Given the description of an element on the screen output the (x, y) to click on. 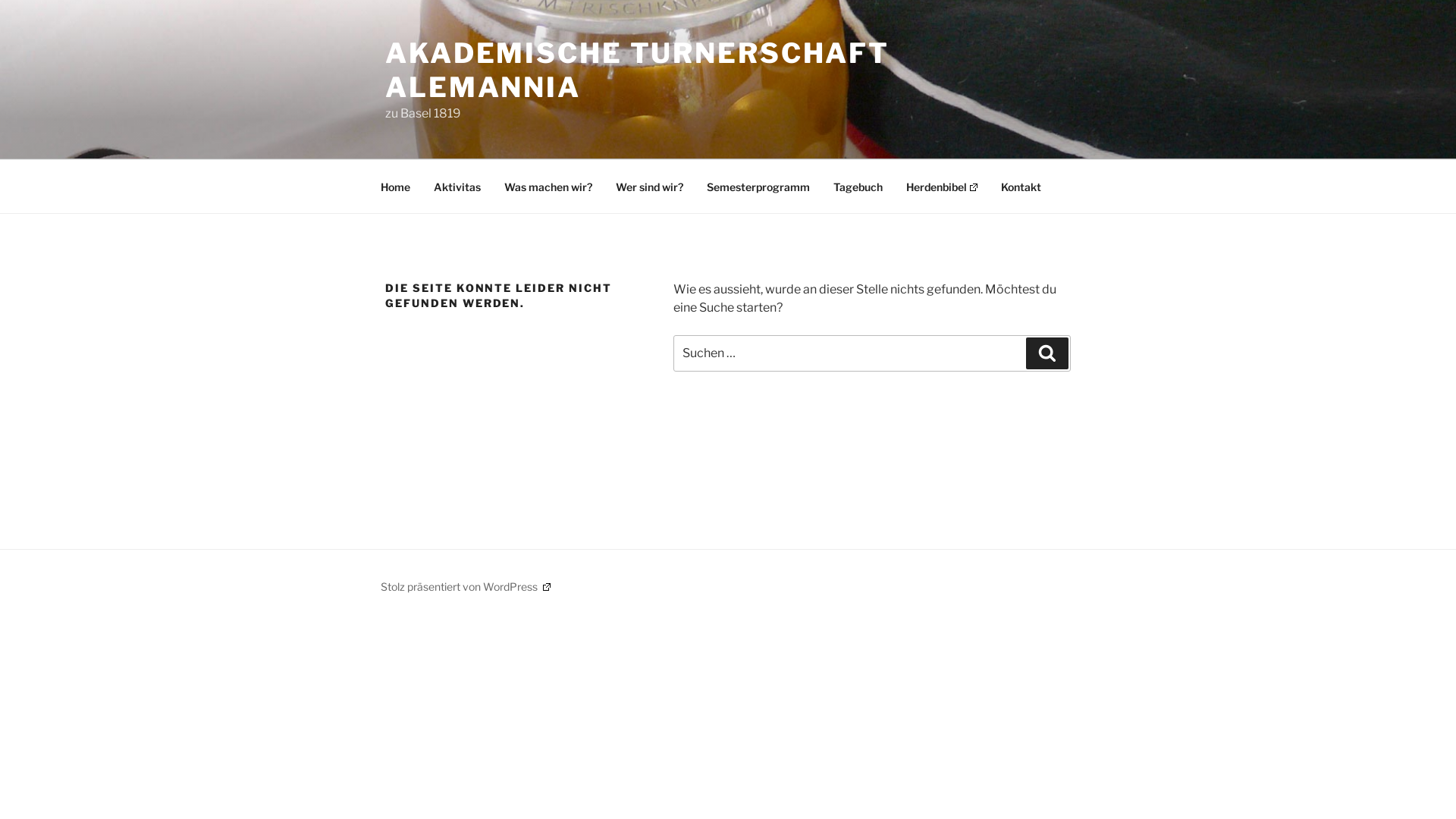
Home Element type: text (395, 186)
Herdenbibel Element type: text (941, 186)
Semesterprogramm Element type: text (758, 186)
Kontakt Element type: text (1020, 186)
Was machen wir? Element type: text (547, 186)
Suchen Element type: text (1047, 353)
Wer sind wir? Element type: text (649, 186)
AKADEMISCHE TURNERSCHAFT ALEMANNIA Element type: text (637, 69)
Tagebuch Element type: text (857, 186)
Aktivitas Element type: text (457, 186)
